Given the description of an element on the screen output the (x, y) to click on. 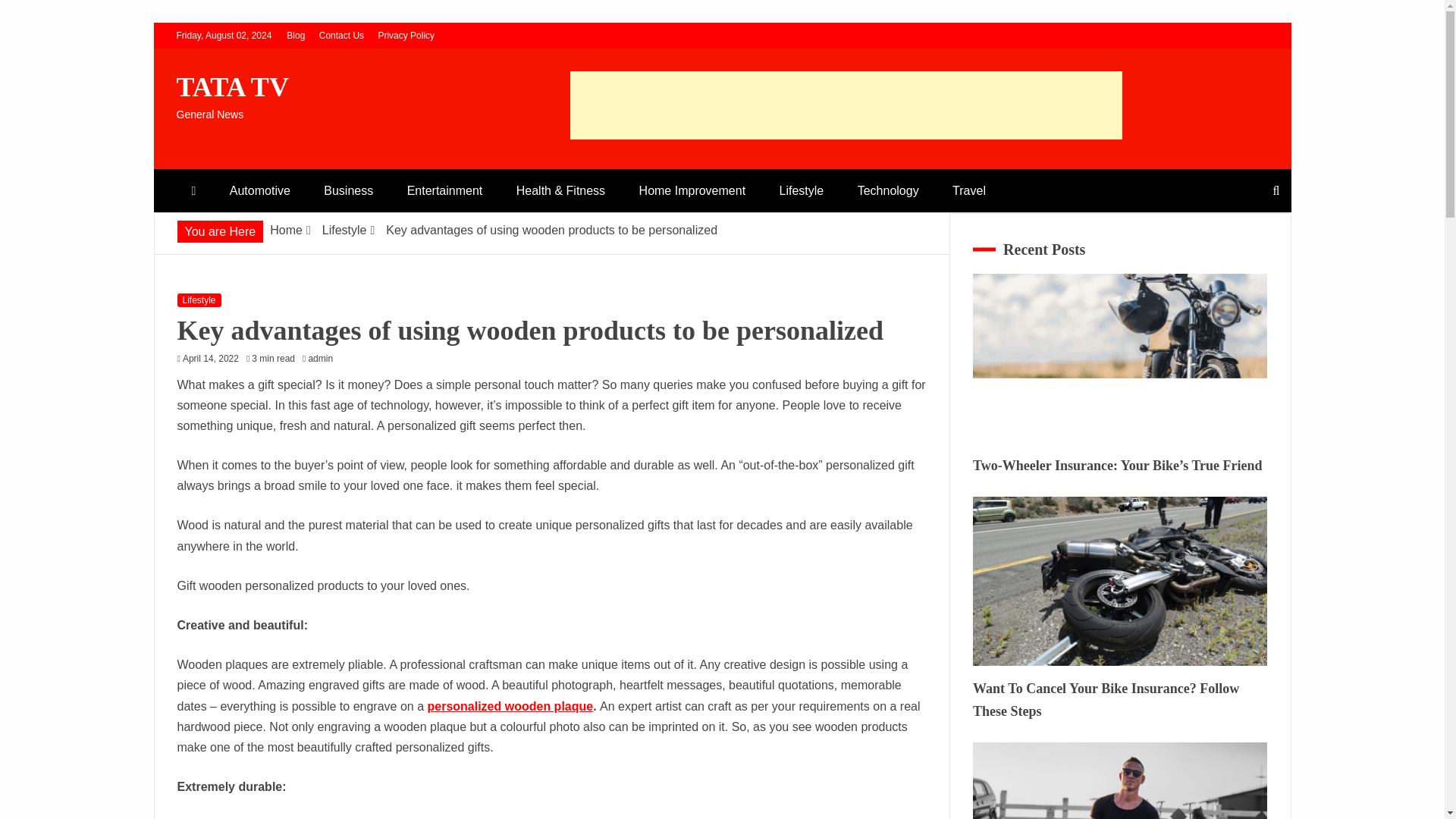
Technology (888, 190)
Lifestyle (802, 190)
Contact Us (341, 35)
Entertainment (444, 190)
Blog (295, 35)
Advertisement (846, 105)
Search (31, 13)
April 14, 2022 (210, 357)
Automotive (259, 190)
